Given the description of an element on the screen output the (x, y) to click on. 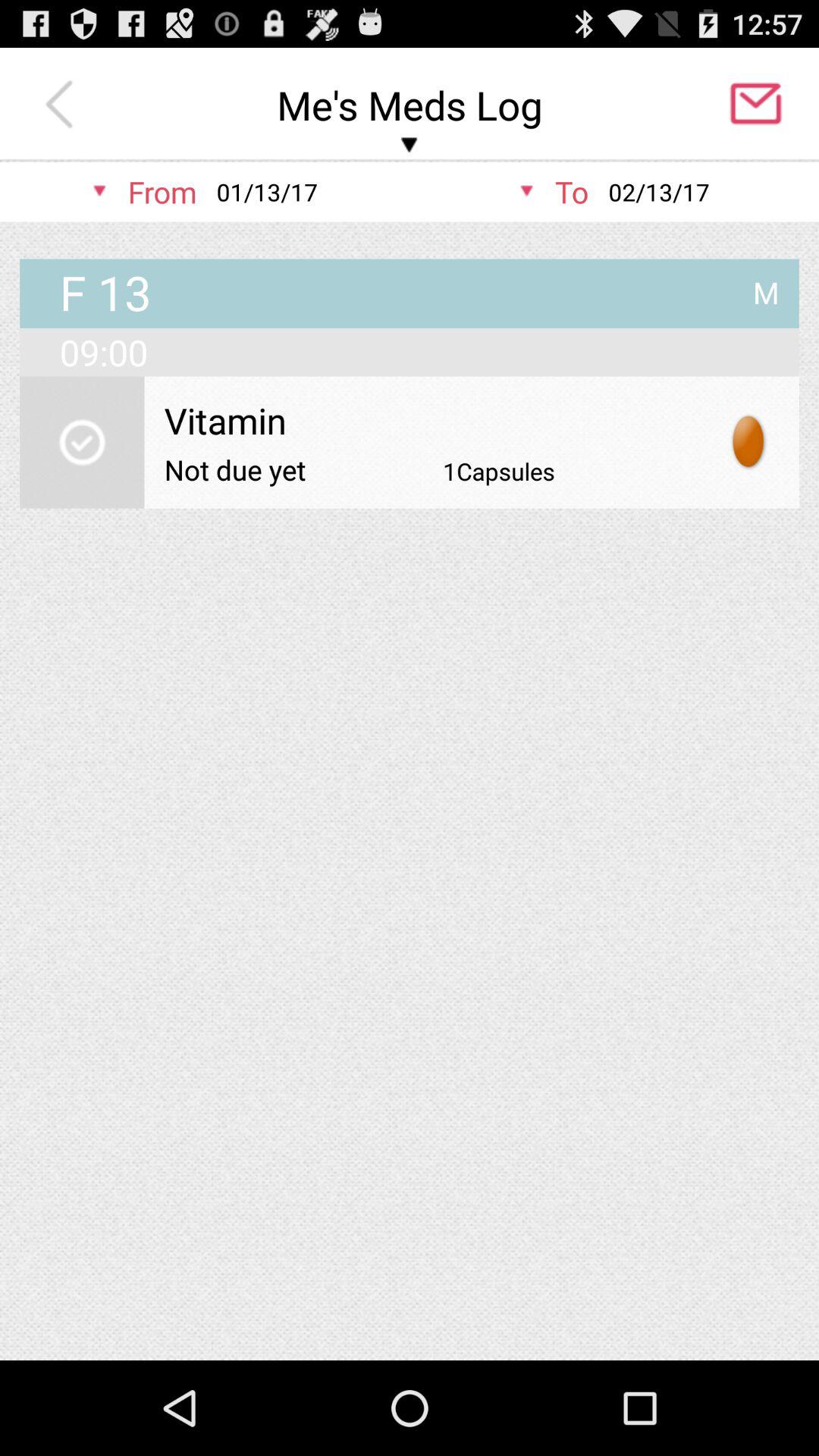
choose the icon above 09:00 app (766, 286)
